Given the description of an element on the screen output the (x, y) to click on. 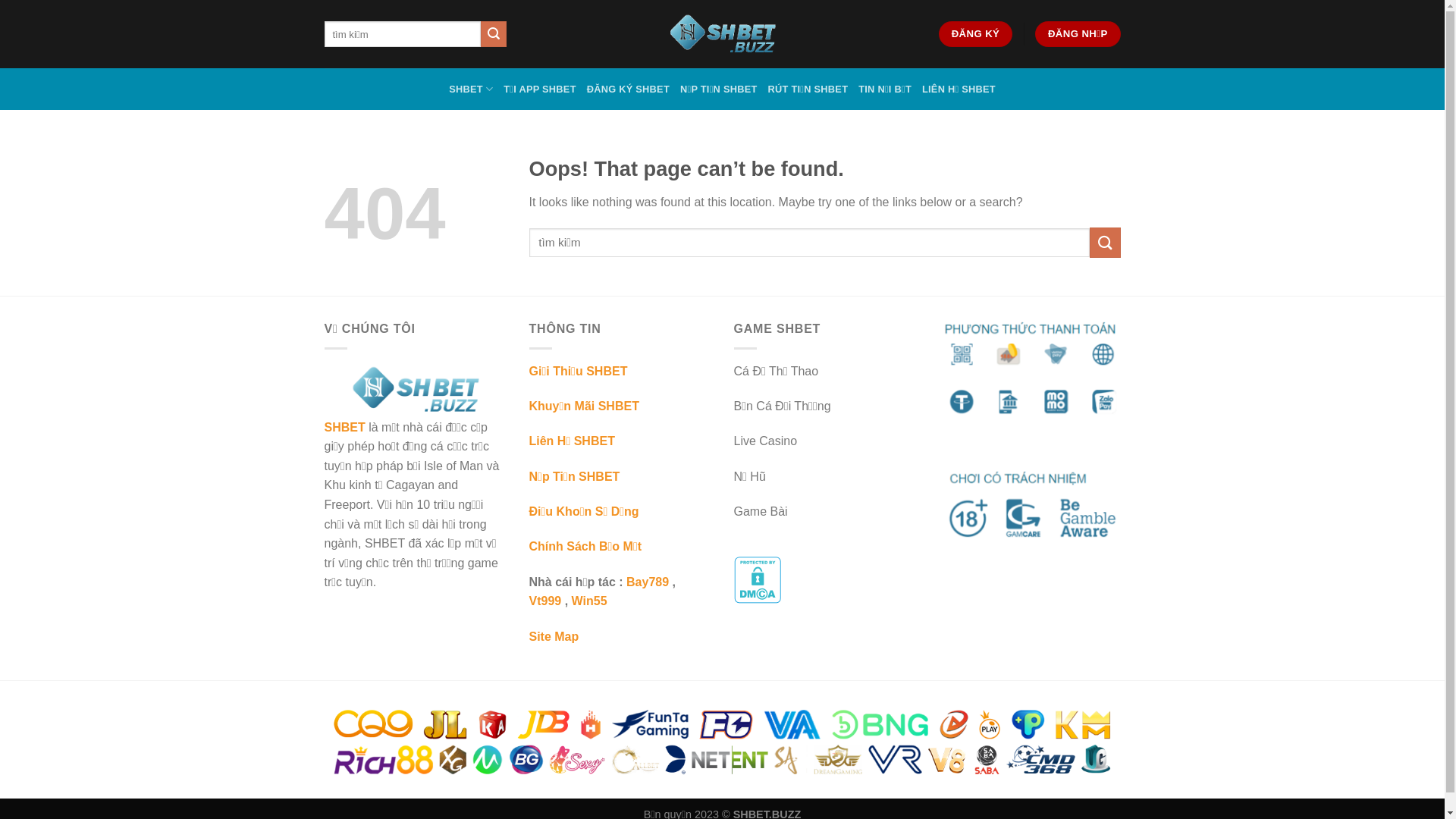
DMCA.com Protection Status Element type: hover (757, 578)
Bay789 Element type: text (647, 581)
SHBET Element type: text (344, 426)
shbet Element type: hover (721, 33)
SHBET Element type: text (470, 88)
Site Map Element type: text (554, 636)
Vt999 Element type: text (545, 600)
Win55 Element type: text (589, 600)
